Given the description of an element on the screen output the (x, y) to click on. 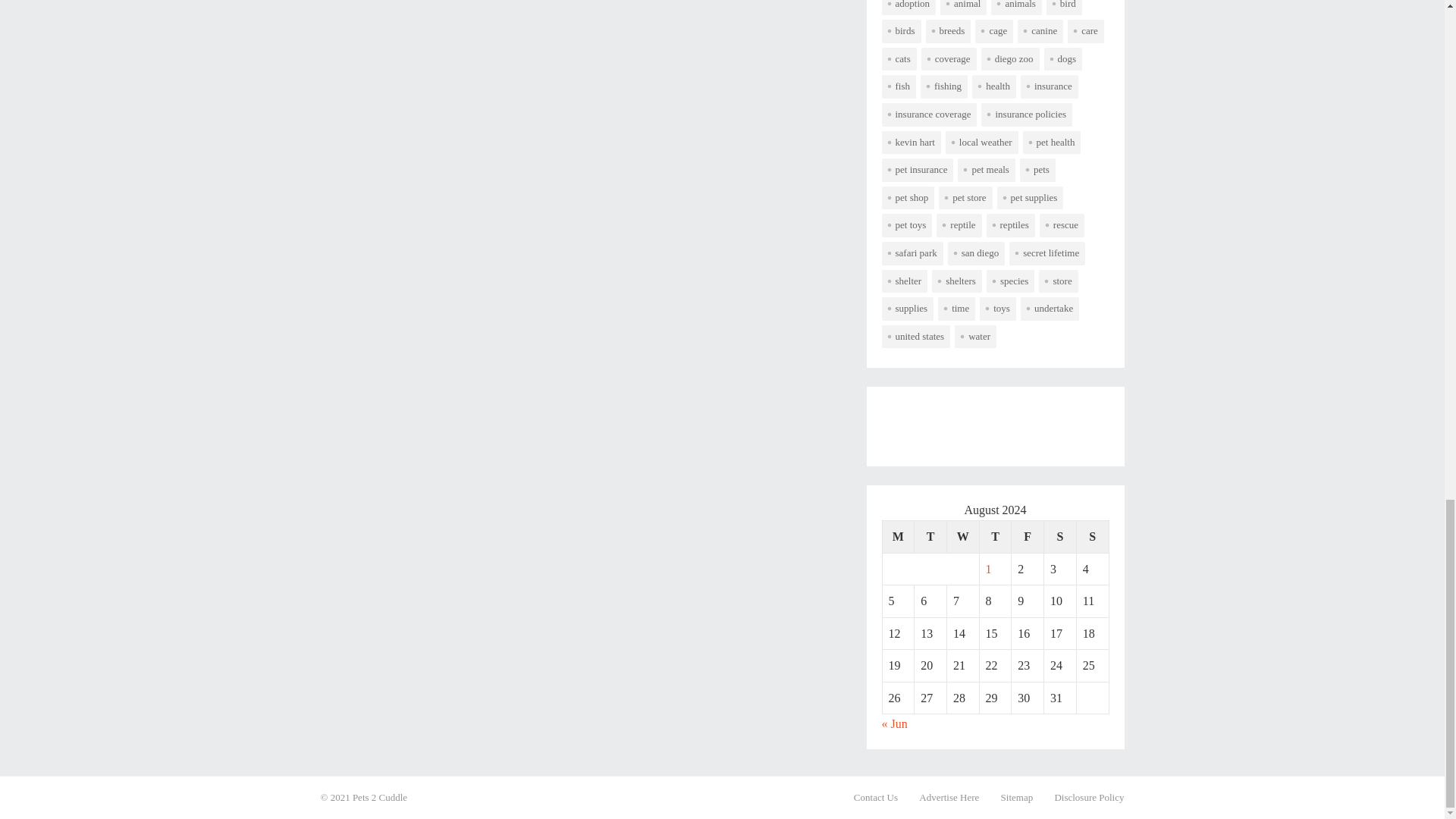
Thursday (994, 536)
Wednesday (962, 536)
Tuesday (930, 536)
Monday (898, 536)
Sunday (1091, 536)
Saturday (1060, 536)
Friday (1027, 536)
